Given the description of an element on the screen output the (x, y) to click on. 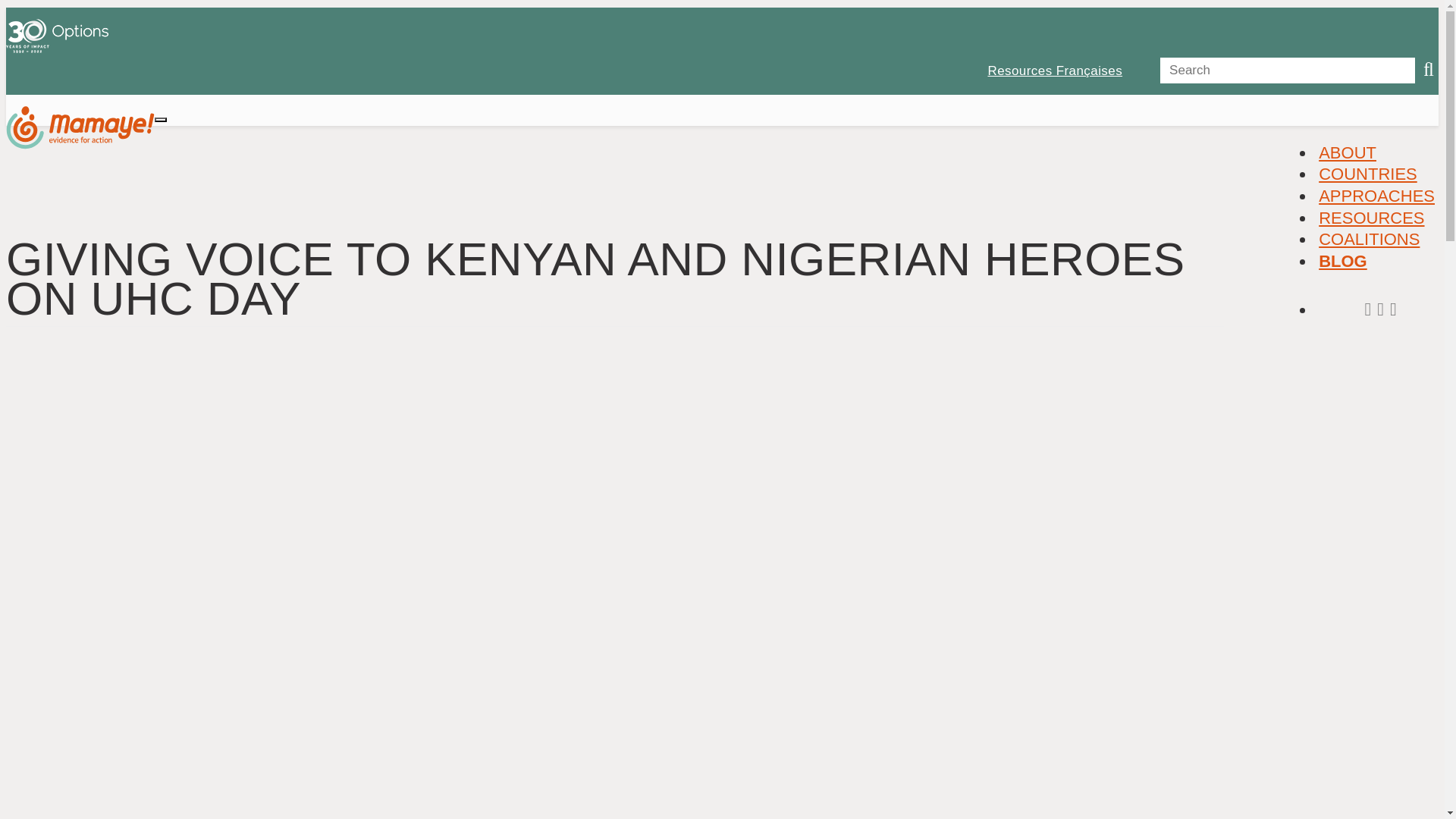
ABOUT (1347, 152)
COALITIONS (1368, 238)
Toggle navigation (160, 119)
BLOG (1342, 260)
Home (79, 133)
COUNTRIES (1367, 173)
Managed by Options (56, 48)
RESOURCES (1371, 217)
